Given the description of an element on the screen output the (x, y) to click on. 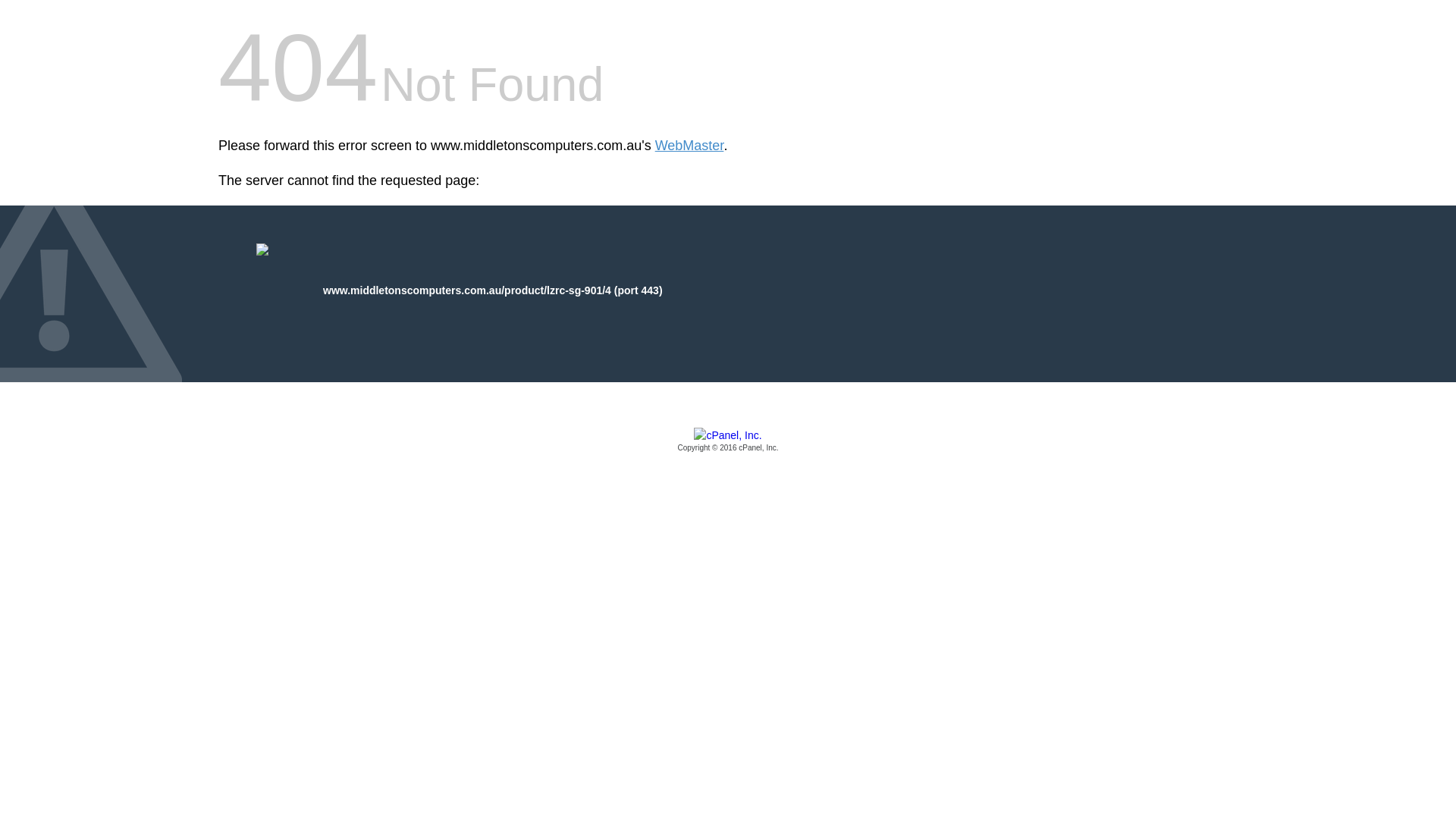
WebMaster Element type: text (689, 145)
